Given the description of an element on the screen output the (x, y) to click on. 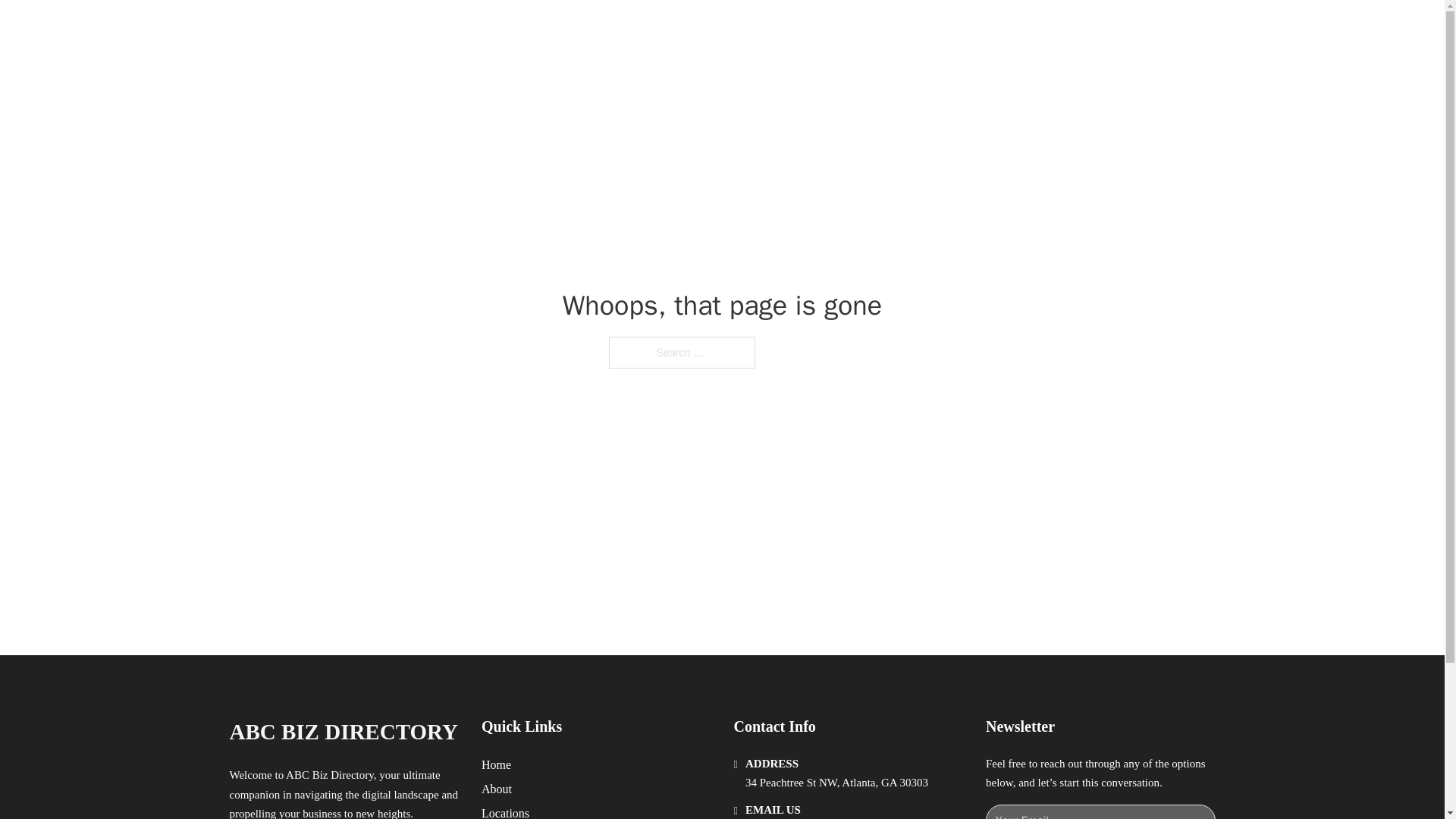
ABC BIZ DIRECTORY (411, 28)
LOCATIONS (990, 29)
ABC BIZ DIRECTORY (342, 732)
About (496, 788)
HOME (919, 29)
Home (496, 764)
Locations (505, 811)
